Given the description of an element on the screen output the (x, y) to click on. 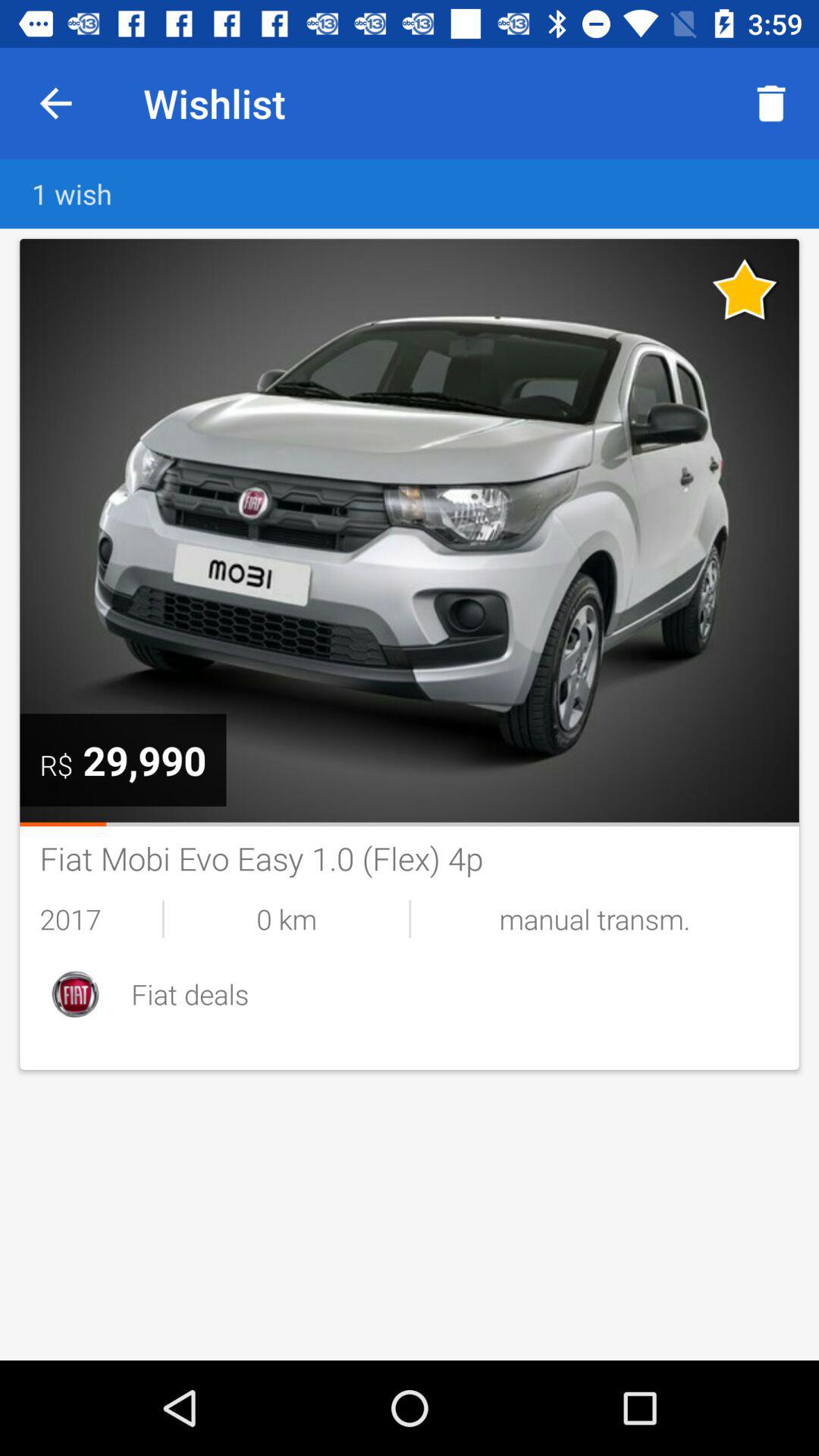
unfavorite listing (745, 288)
